Given the description of an element on the screen output the (x, y) to click on. 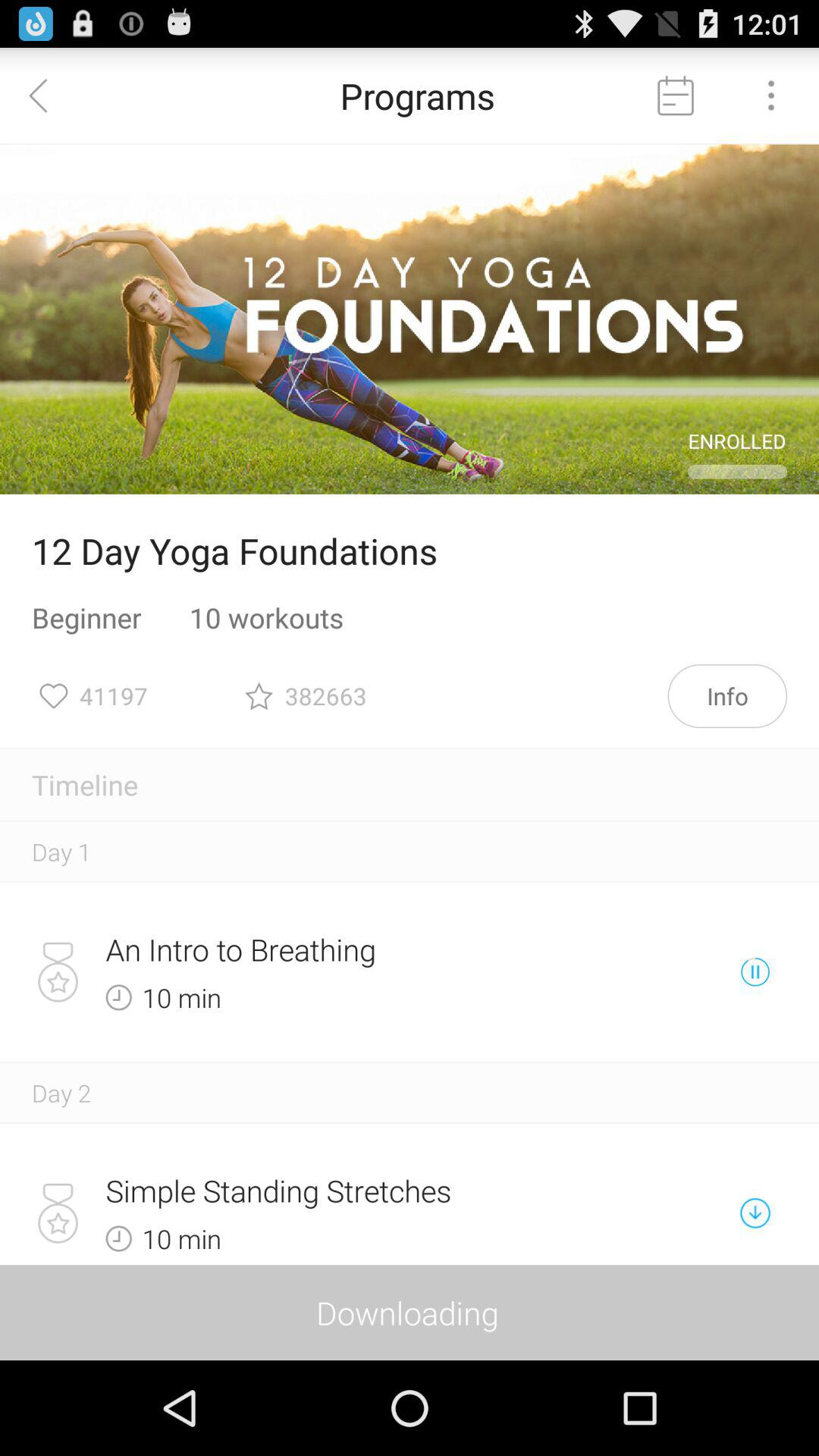
click on info button (727, 695)
